Given the description of an element on the screen output the (x, y) to click on. 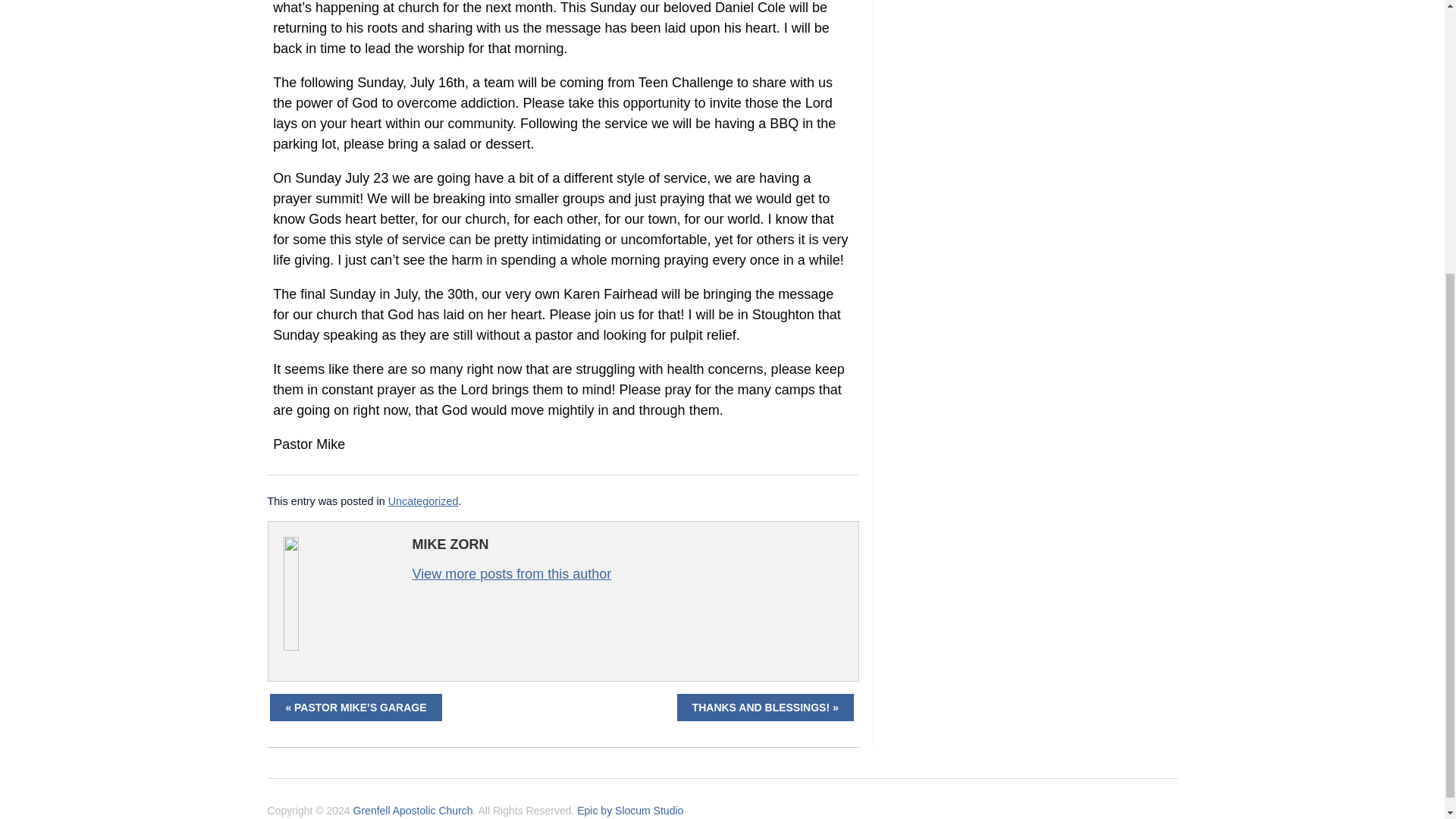
Uncategorized (423, 500)
Epic by Slocum Studio (629, 810)
Grenfell Apostolic Church (413, 810)
View more posts from this author (511, 573)
